Given the description of an element on the screen output the (x, y) to click on. 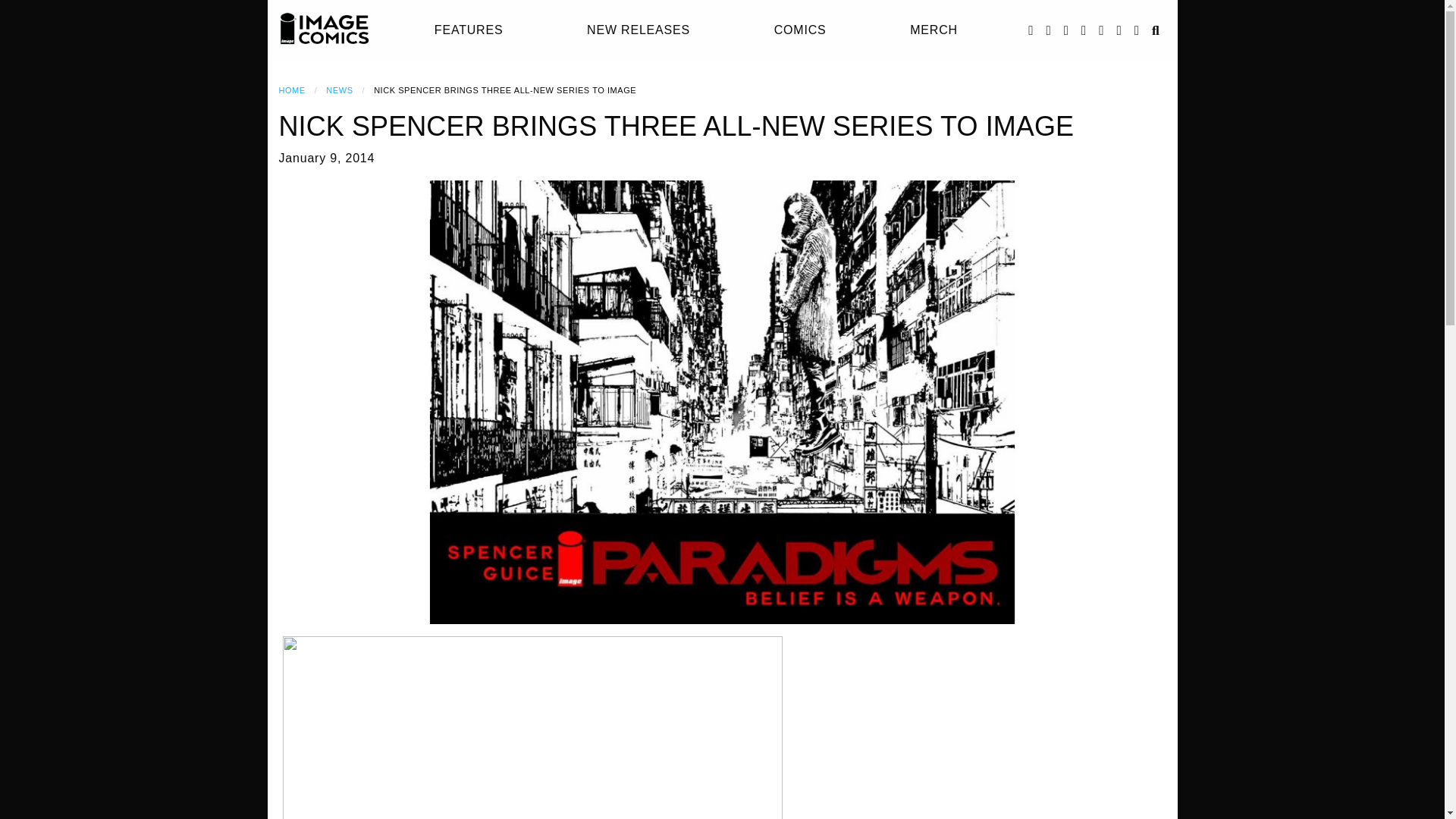
NEW RELEASES (638, 30)
FEATURES (468, 30)
COMICS (800, 30)
MERCH (934, 30)
NEWS (339, 90)
HOME (292, 90)
